Given the description of an element on the screen output the (x, y) to click on. 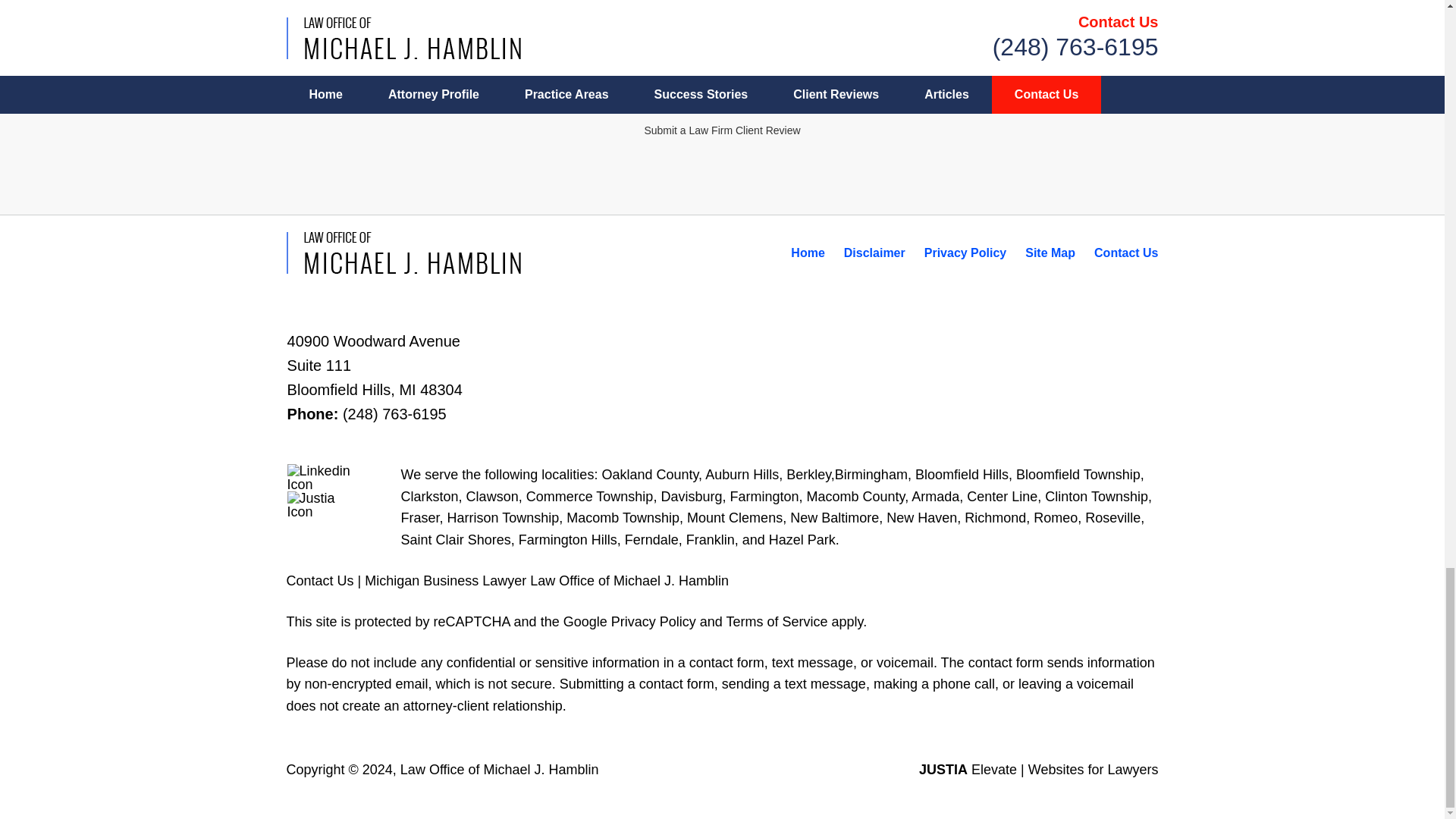
Disclaimer (874, 252)
Terms of Service (776, 621)
Linkedin (323, 477)
Justia (323, 504)
Privacy Policy (965, 252)
Contact Us (1125, 252)
Site Map (1050, 252)
Submit a Law Firm Client Review (721, 129)
Home (807, 252)
Google Privacy Policy (629, 621)
Law Office of Michael J. Hamblin (499, 769)
View More (722, 63)
